Given the description of an element on the screen output the (x, y) to click on. 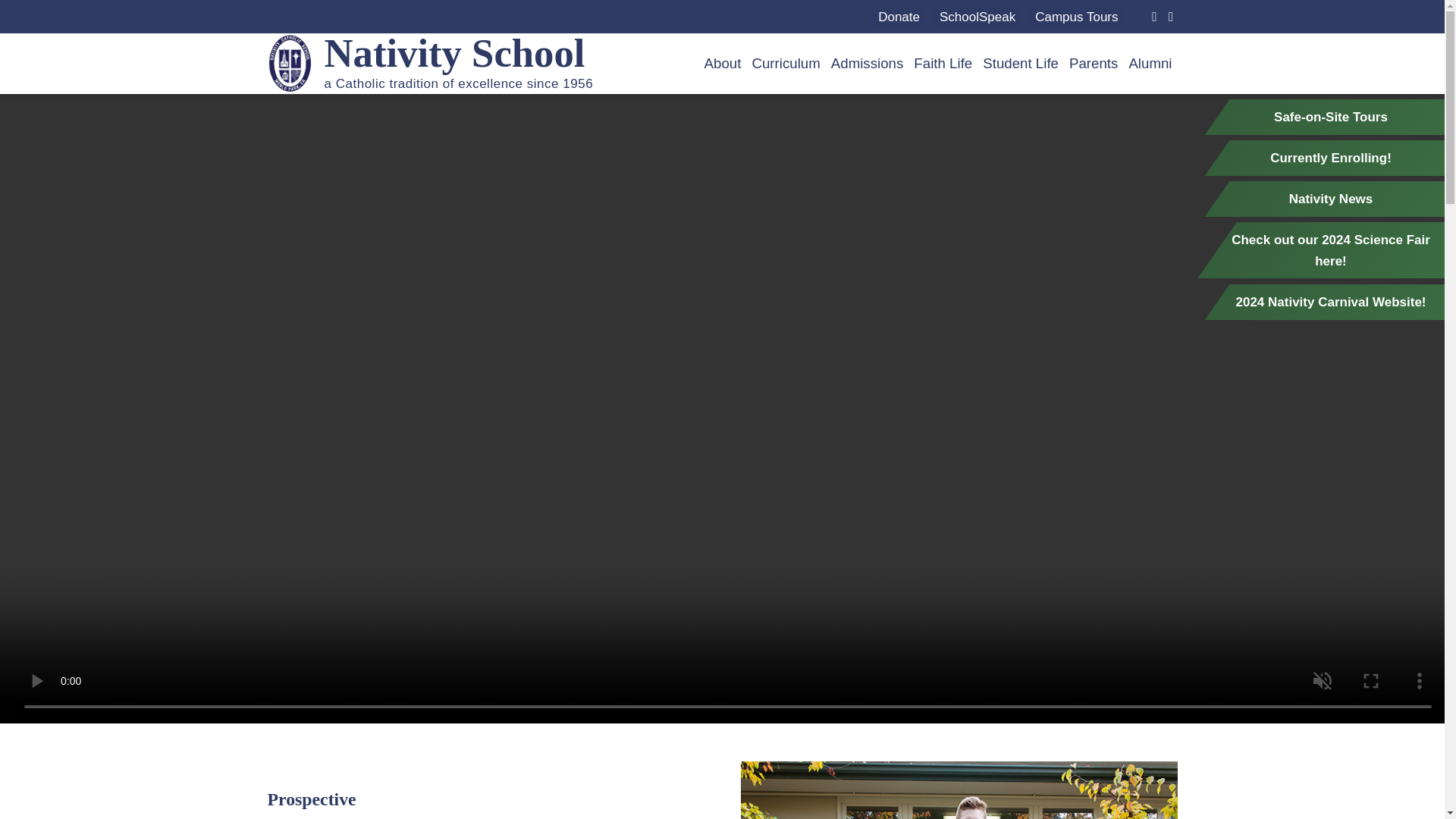
Admissions (867, 63)
Curriculum (785, 63)
About (722, 63)
Faith Life (943, 63)
